Given the description of an element on the screen output the (x, y) to click on. 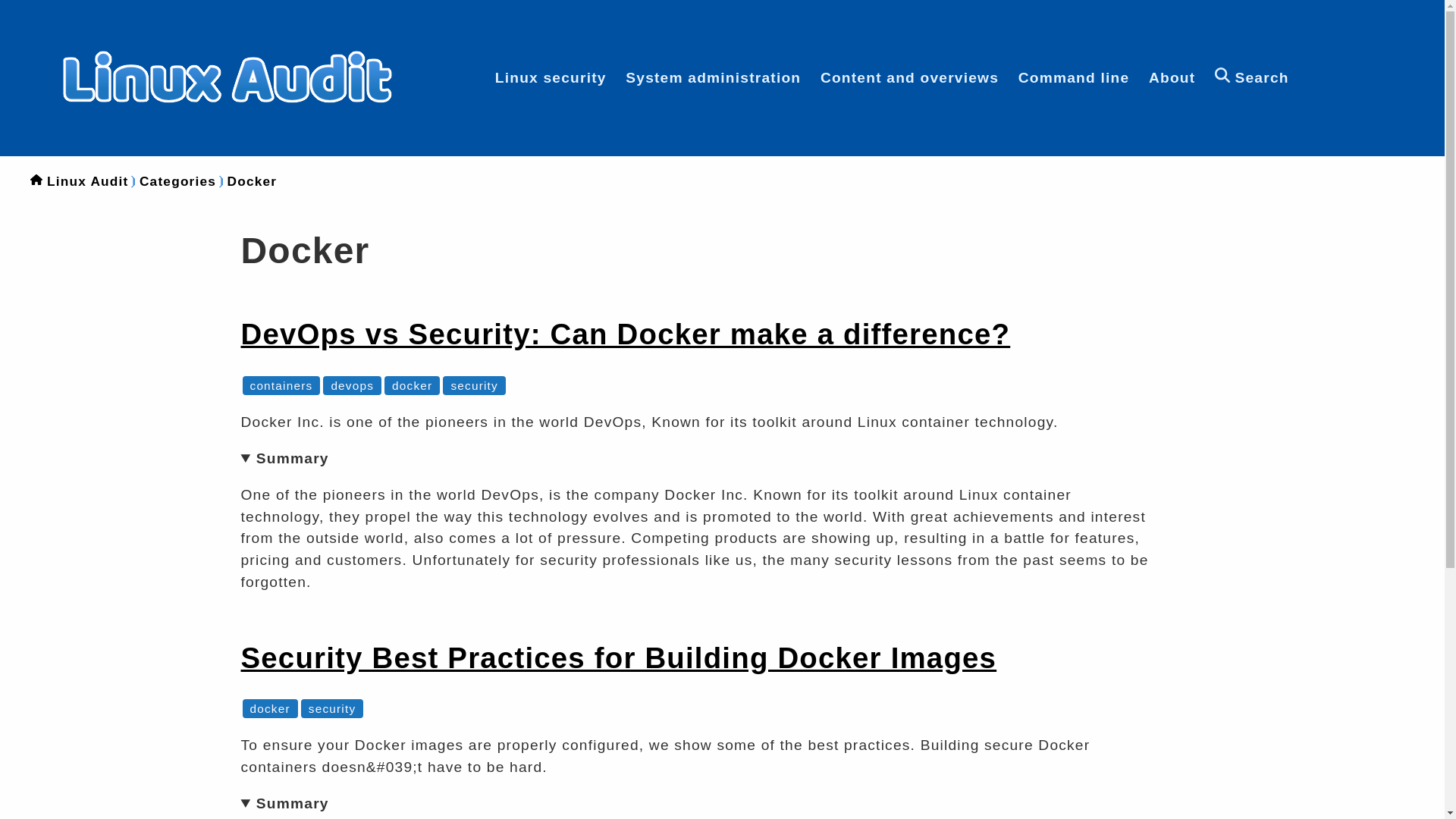
Content and overviews (909, 77)
Security Best Practices for Building Docker Images (619, 657)
Search (1251, 77)
DevOps vs Security: Can Docker make a difference? (625, 333)
About (1171, 77)
Linux Audit (87, 181)
containers (281, 385)
devops (352, 385)
Categories (177, 181)
docker (411, 385)
security (473, 385)
docker (269, 707)
Command line (1073, 77)
Docker (252, 181)
System administration (712, 77)
